Given the description of an element on the screen output the (x, y) to click on. 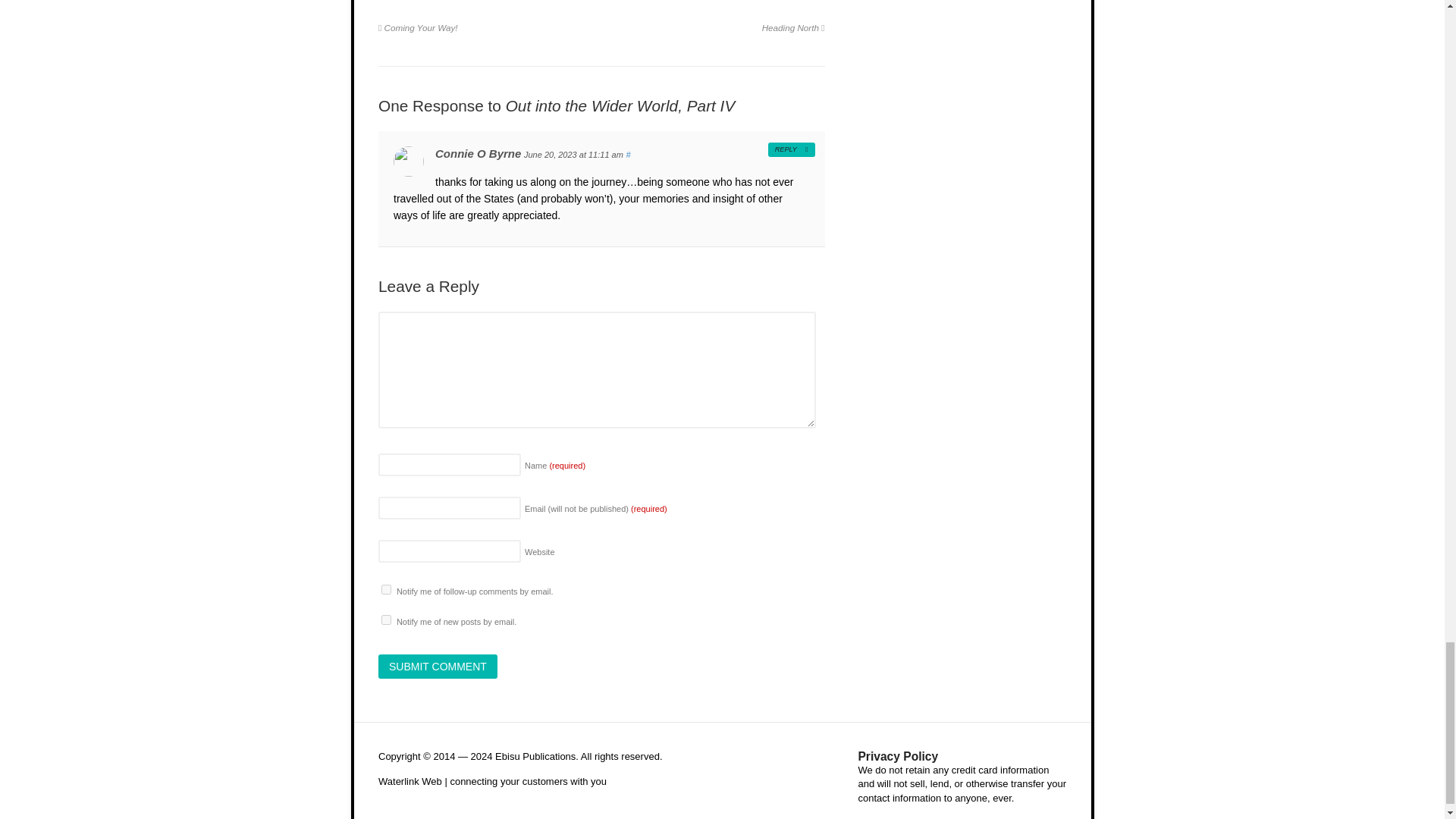
REPLY (791, 149)
Submit Comment (437, 666)
subscribe (386, 589)
Submit Comment (437, 666)
Heading North (793, 27)
subscribe (386, 619)
Coming Your Way! (418, 27)
